Given the description of an element on the screen output the (x, y) to click on. 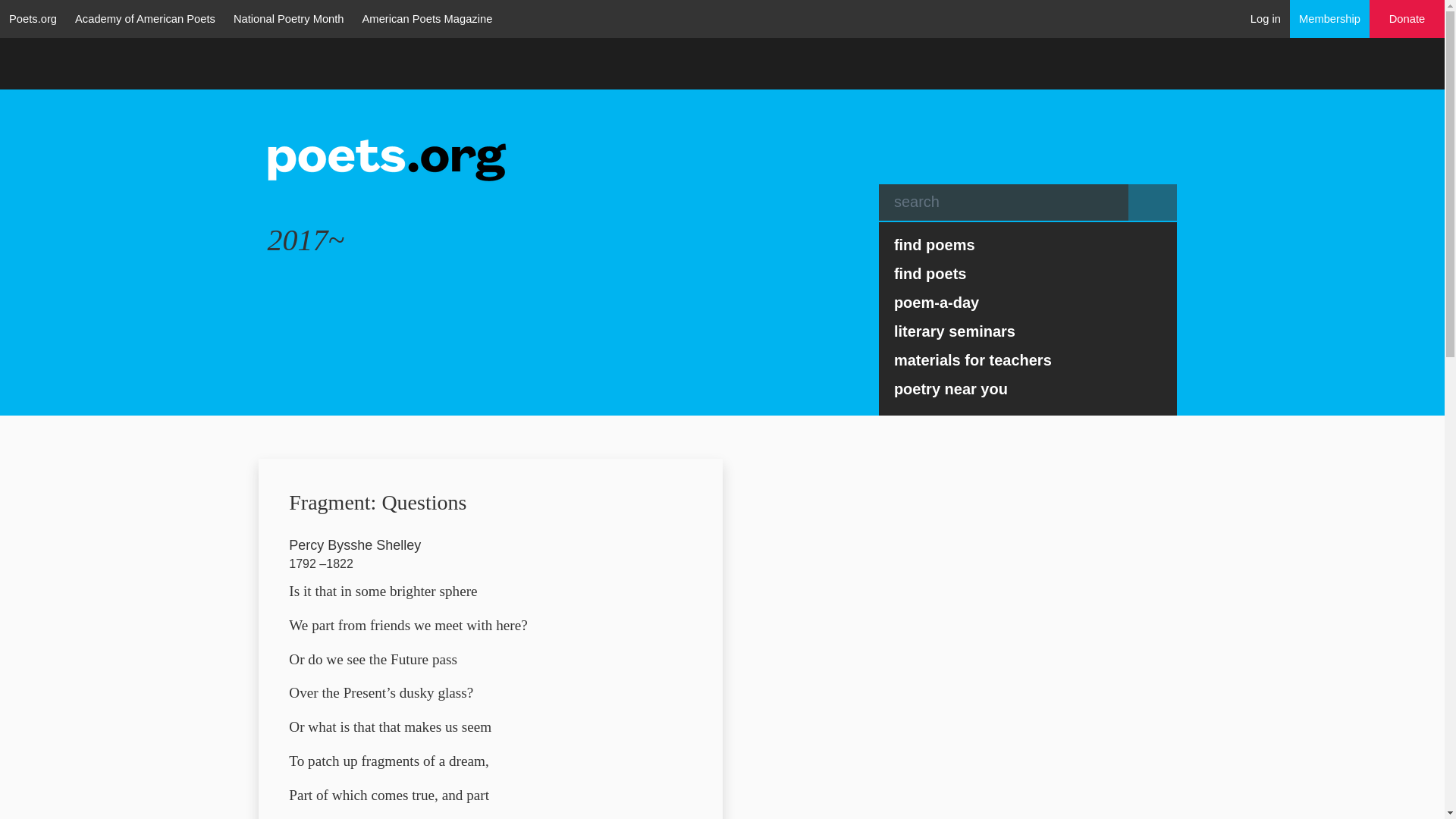
Membership (1330, 18)
Fragment: Questions (376, 498)
Become a member of the Academy of American Poets (1330, 18)
Percy Bysshe Shelley (354, 545)
poetry near you (1028, 388)
find poets (1028, 273)
literary seminars (1028, 330)
Log in (1265, 18)
Poets.org (32, 18)
National Poetry Month (288, 18)
